Given the description of an element on the screen output the (x, y) to click on. 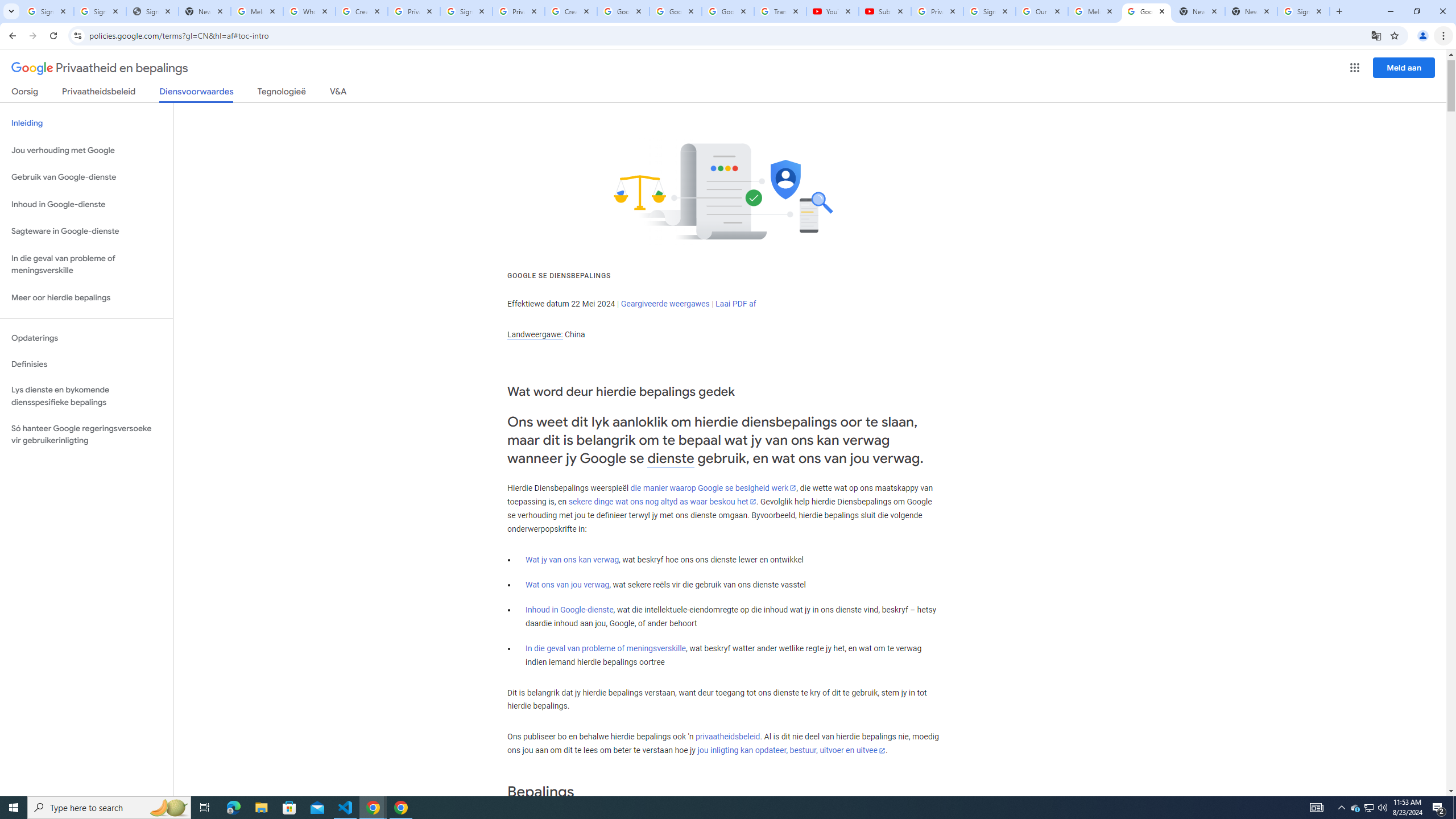
Translate this page (1376, 35)
Wat jy van ons kan verwag (571, 559)
YouTube (831, 11)
Diensvoorwaardes (196, 94)
Inleiding (86, 122)
Sagteware in Google-dienste (86, 230)
Google Account (727, 11)
dienste (670, 458)
Jou verhouding met Google (86, 150)
